Given the description of an element on the screen output the (x, y) to click on. 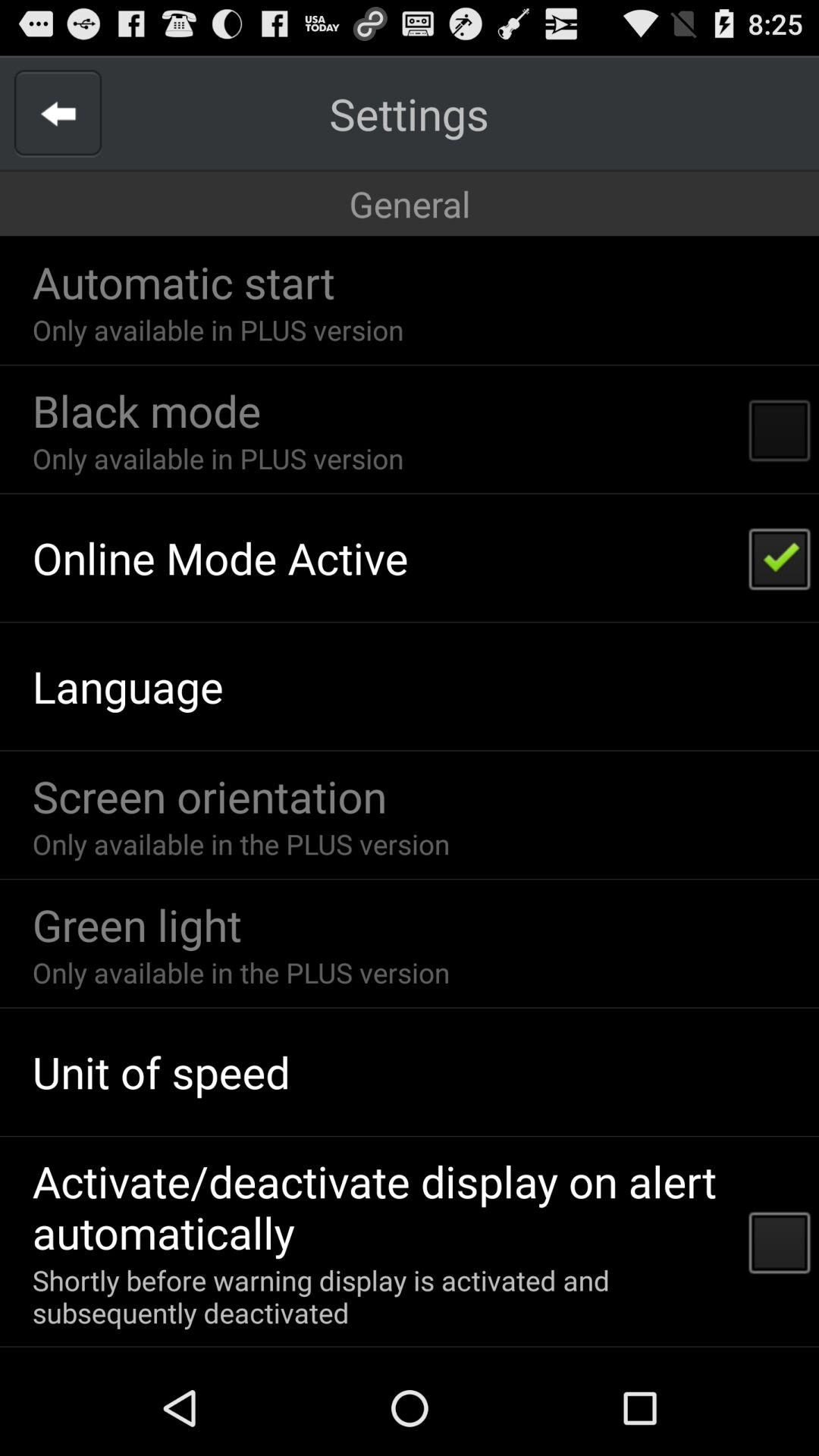
turn off the green light app (136, 924)
